Given the description of an element on the screen output the (x, y) to click on. 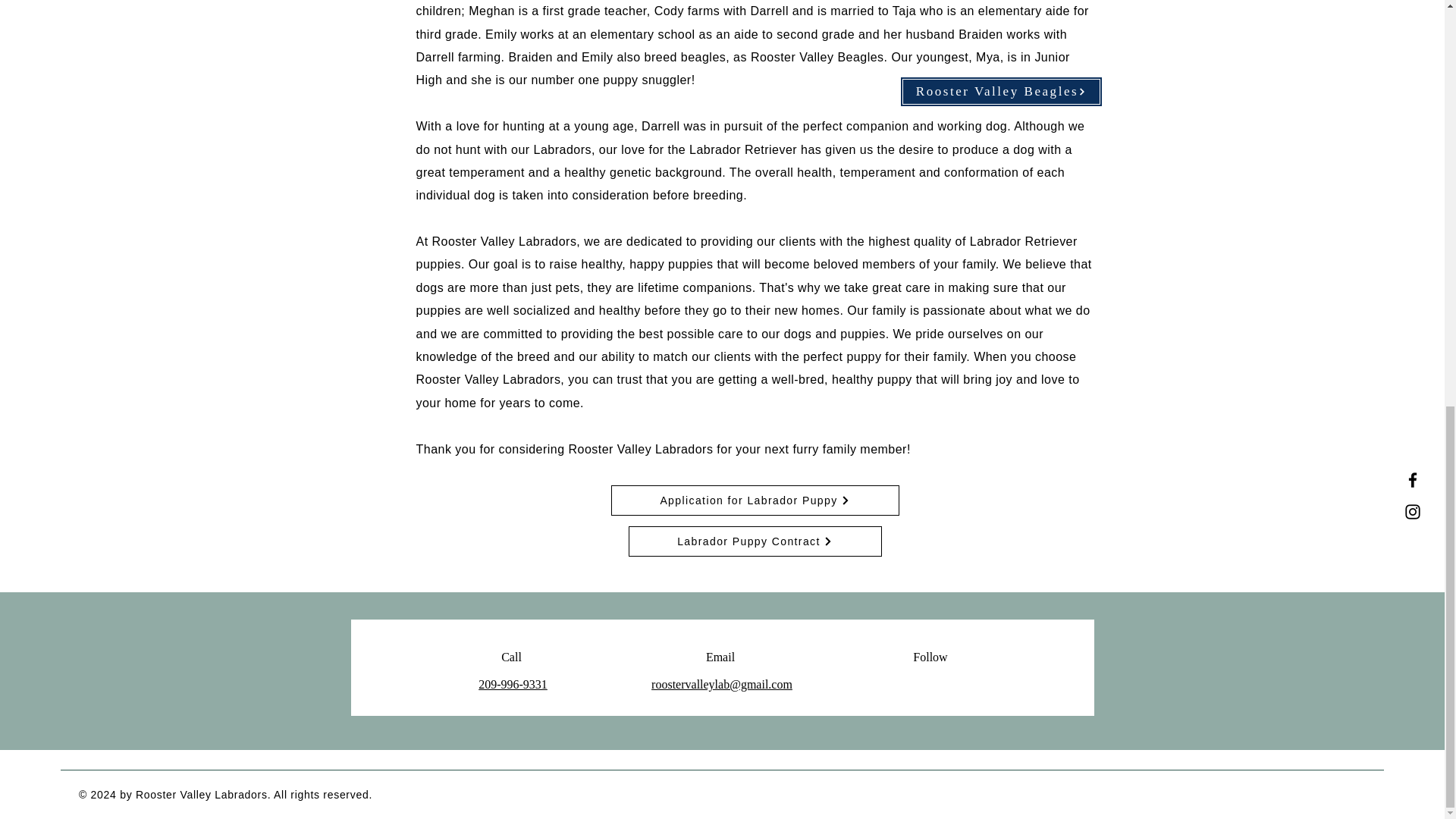
Application for Labrador Puppy (755, 500)
Labrador Puppy Contract (753, 541)
Rooster Valley Beagles (1000, 91)
